Given the description of an element on the screen output the (x, y) to click on. 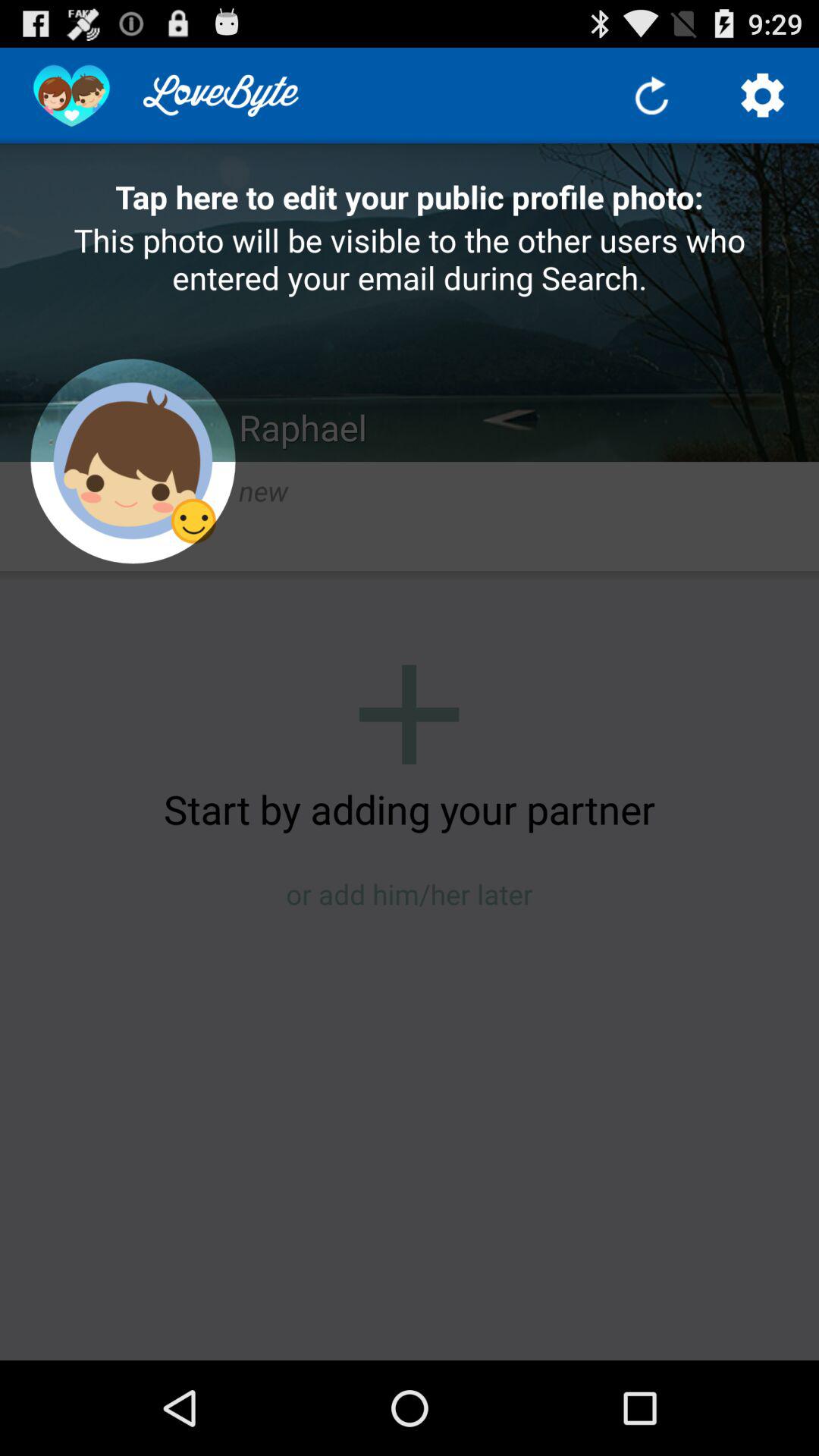
open settings (763, 95)
